Given the description of an element on the screen output the (x, y) to click on. 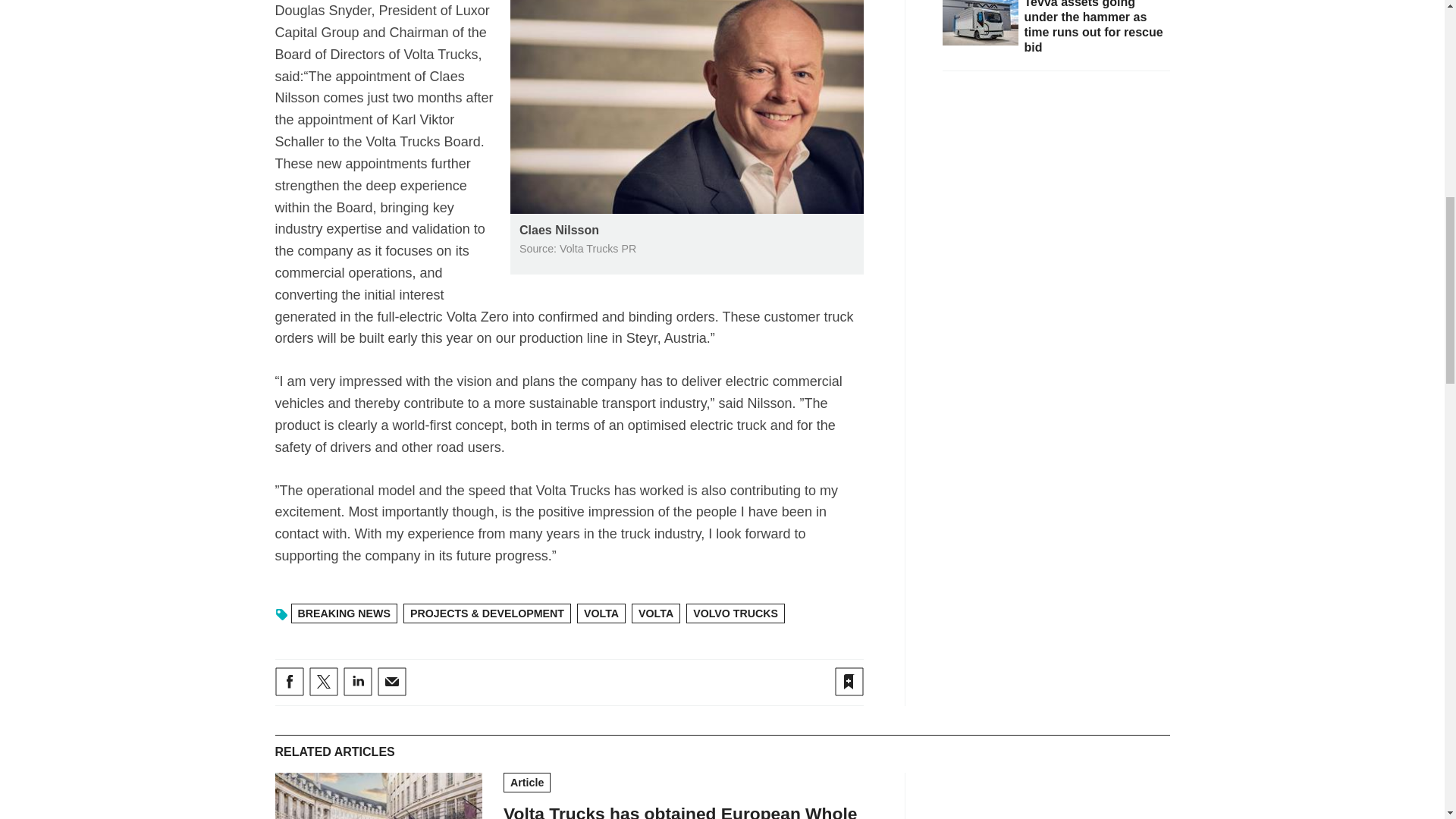
Share this on Facebook (288, 681)
Share this on Linked in (356, 681)
Share this on Twitter (322, 681)
Email this article (391, 681)
